Given the description of an element on the screen output the (x, y) to click on. 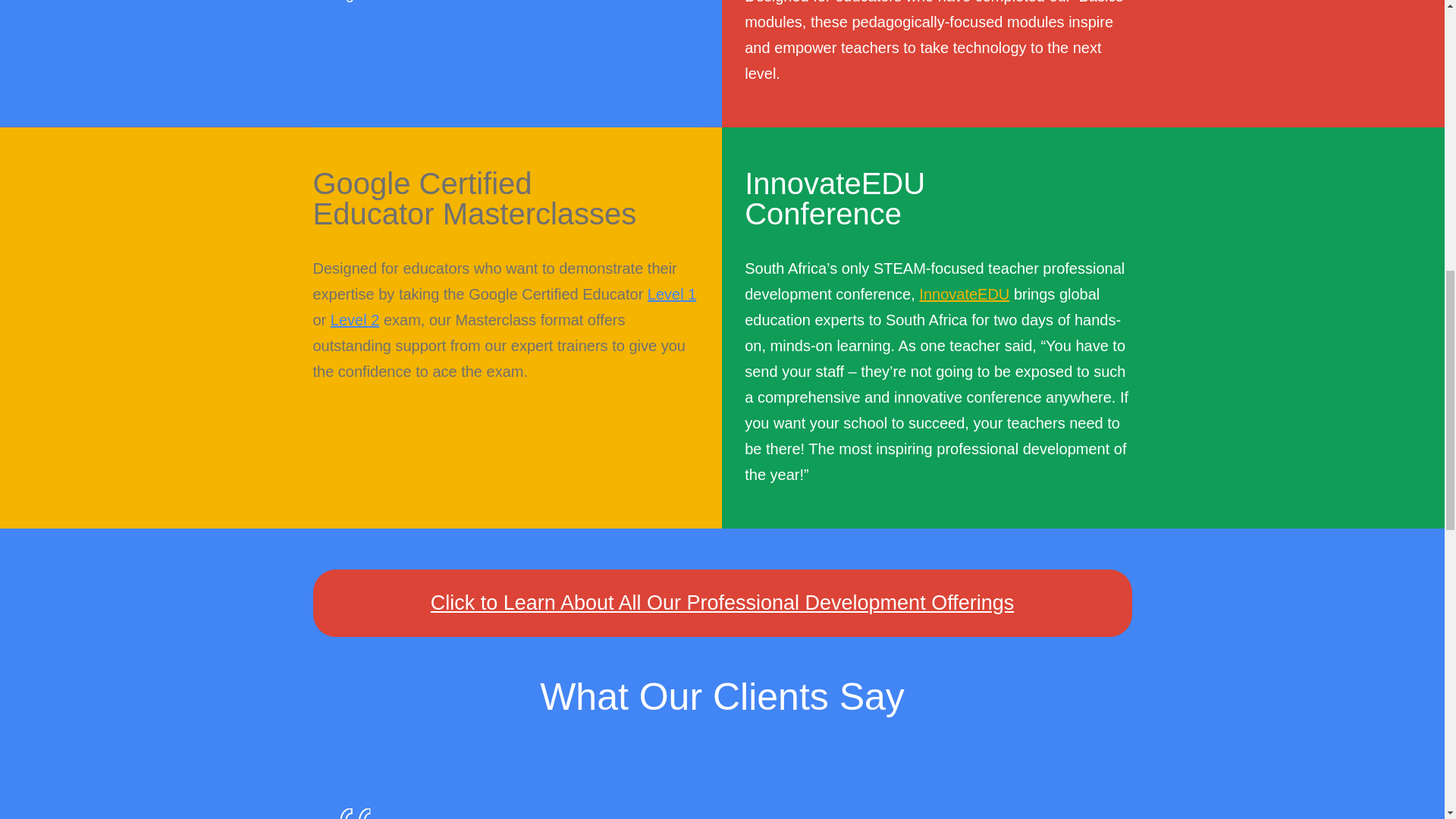
Level 1 (672, 293)
Level 2 (355, 320)
InnovateEDU (963, 293)
